Given the description of an element on the screen output the (x, y) to click on. 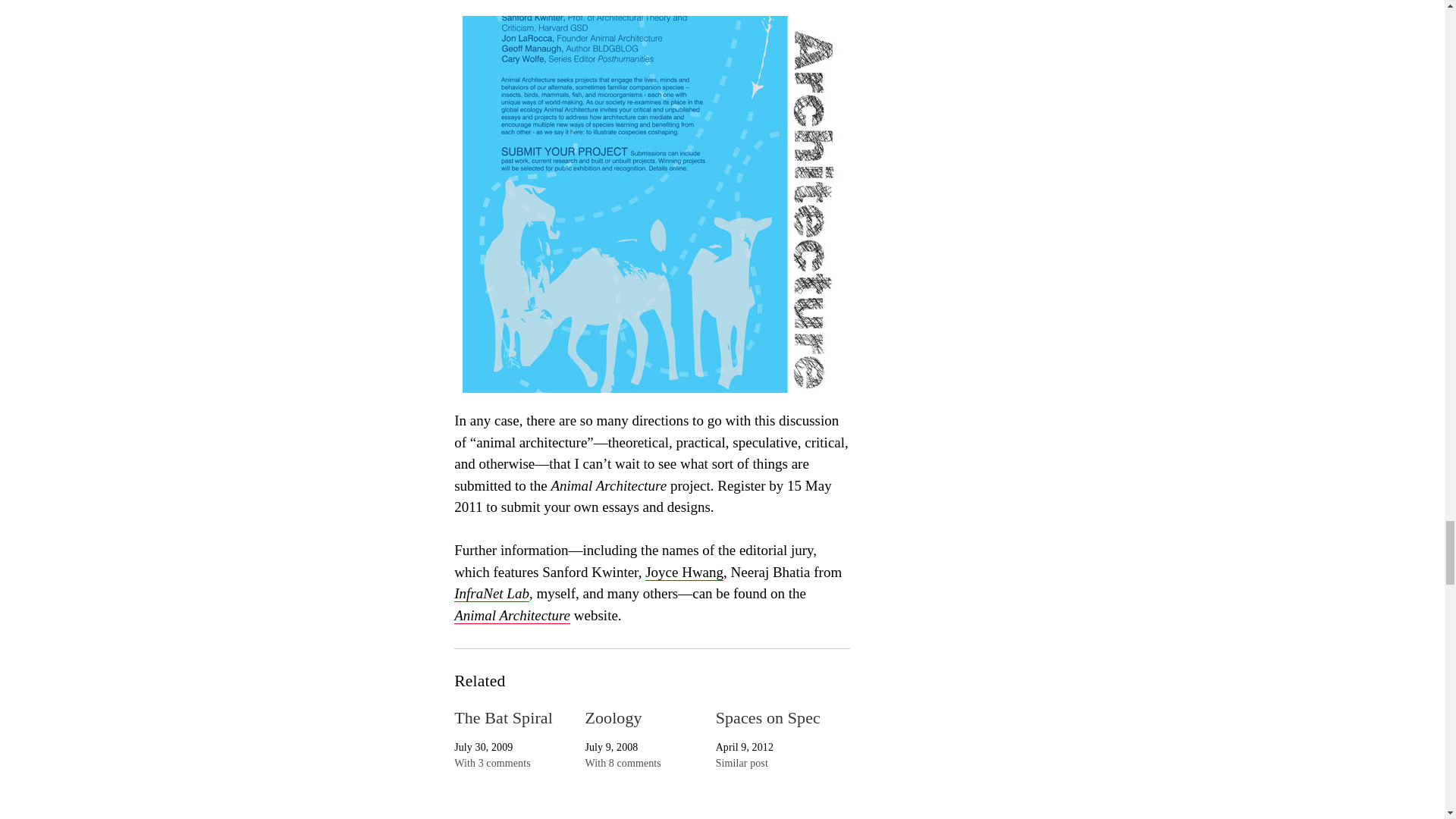
Animal Architecture (512, 615)
Zoology (613, 717)
Zoology (613, 717)
InfraNet Lab (491, 593)
The Bat Spiral (503, 717)
Spaces on Spec (768, 717)
Joyce Hwang (684, 572)
Spaces on Spec (768, 717)
The Bat Spiral (503, 717)
